Given the description of an element on the screen output the (x, y) to click on. 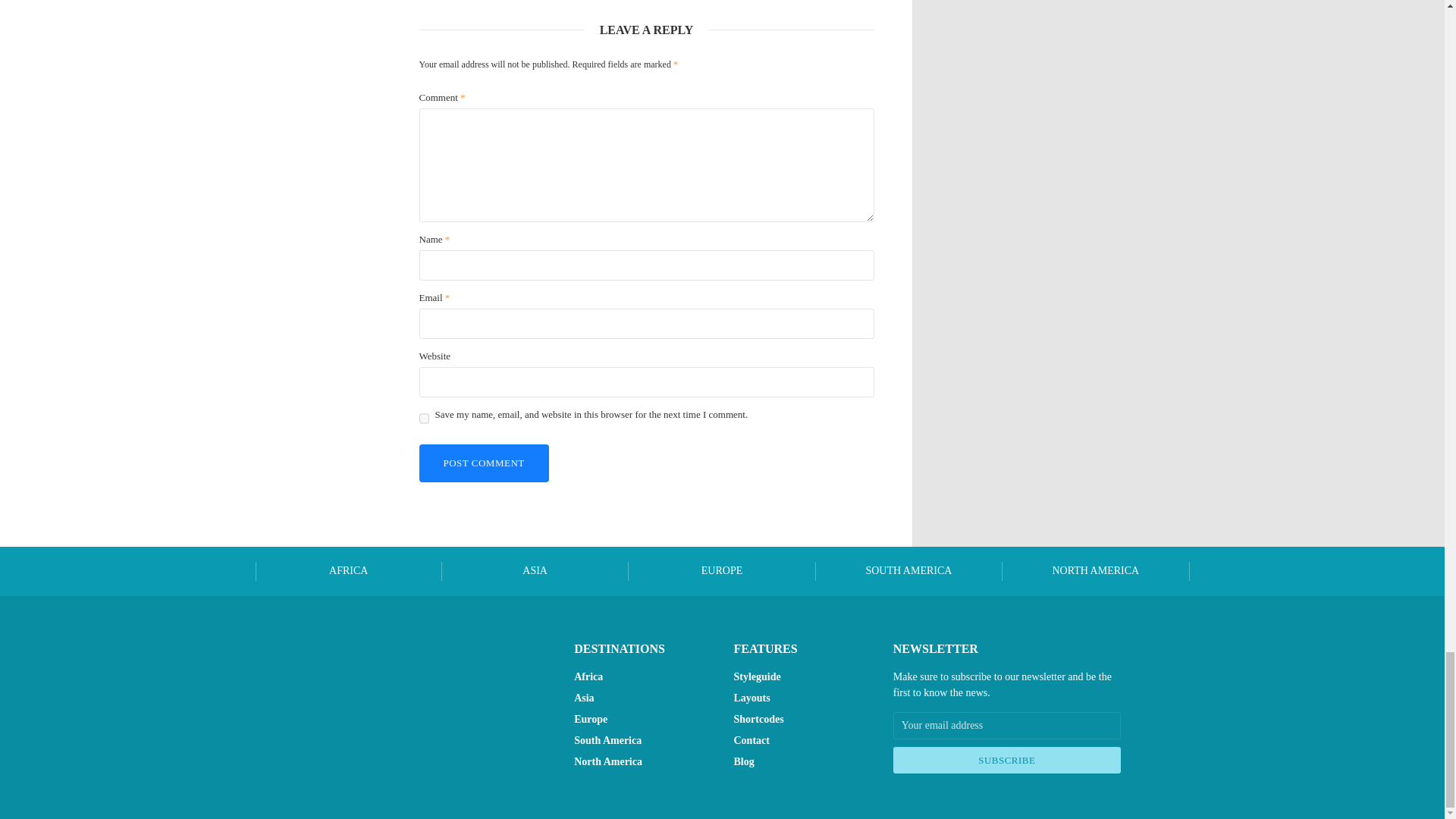
Subscribe (1007, 759)
Post Comment (483, 463)
Post Comment (483, 463)
